Given the description of an element on the screen output the (x, y) to click on. 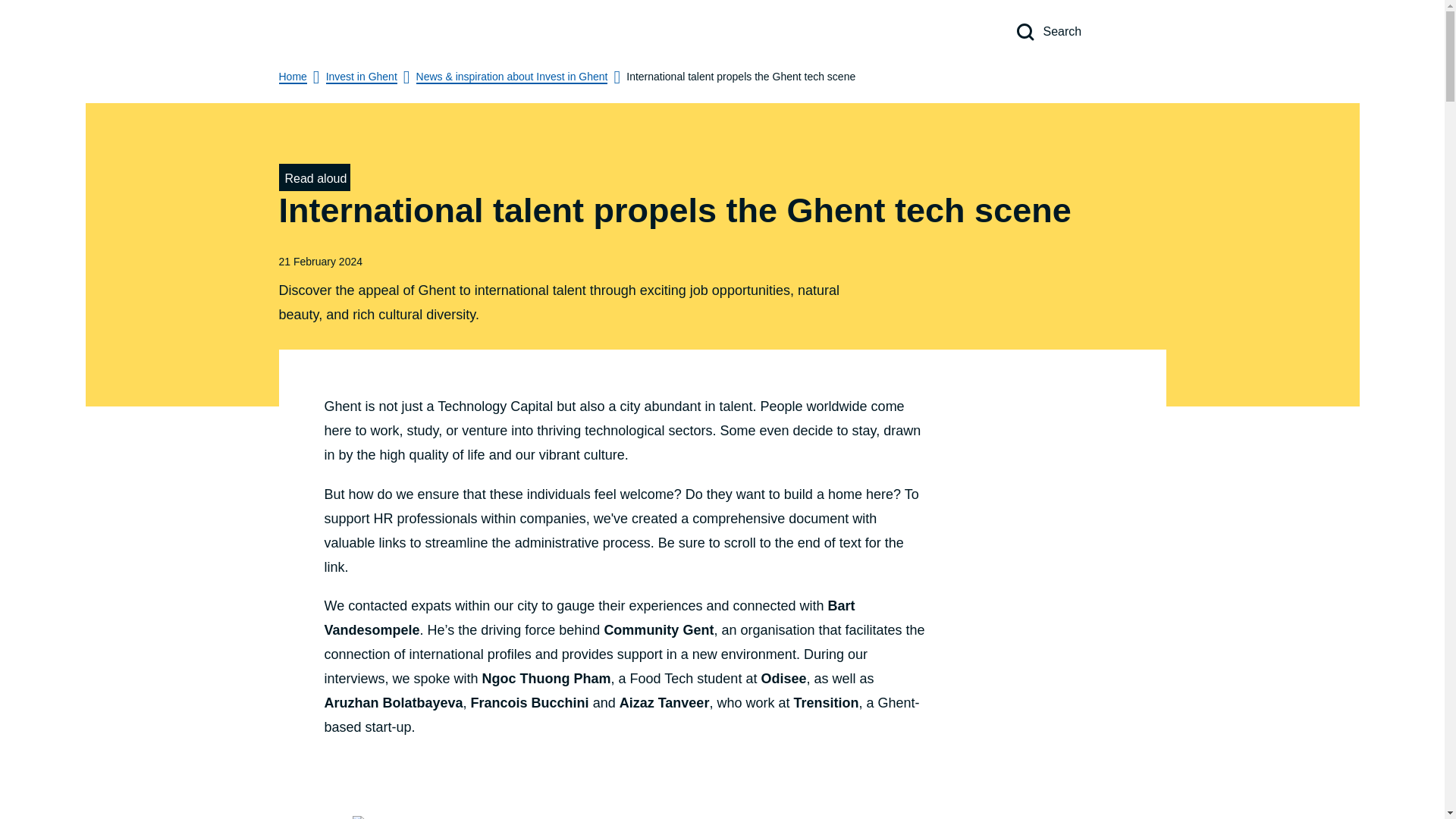
Invest in Ghent (361, 77)
Listen to this page using ReadSpeaker (314, 176)
Read aloud (314, 176)
Home (293, 77)
